Given the description of an element on the screen output the (x, y) to click on. 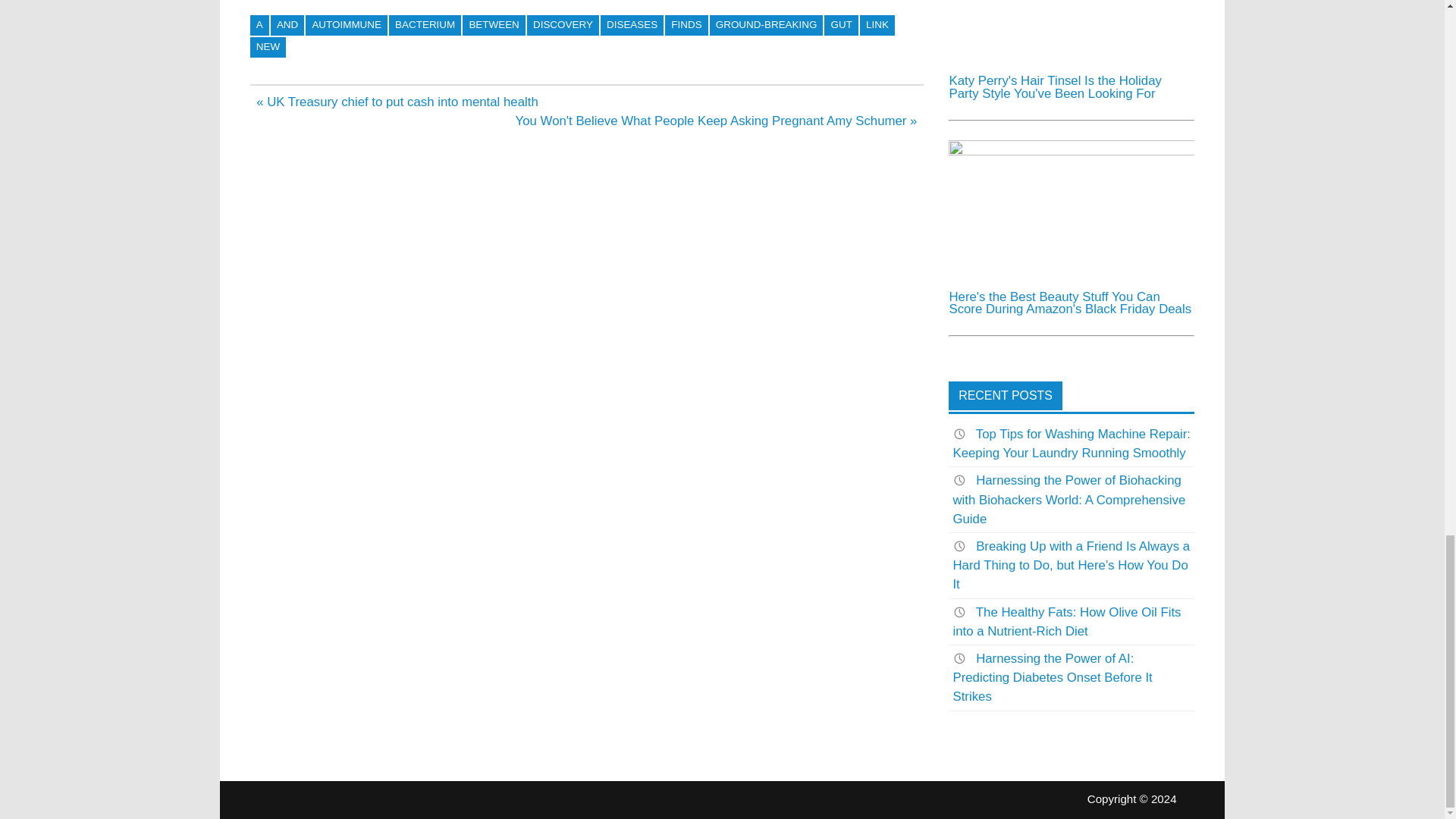
LINK (877, 25)
FINDS (686, 25)
BACTERIUM (424, 25)
BETWEEN (494, 25)
GROUND-BREAKING (767, 25)
DISCOVERY (562, 25)
A (259, 25)
GUT (841, 25)
